Given the description of an element on the screen output the (x, y) to click on. 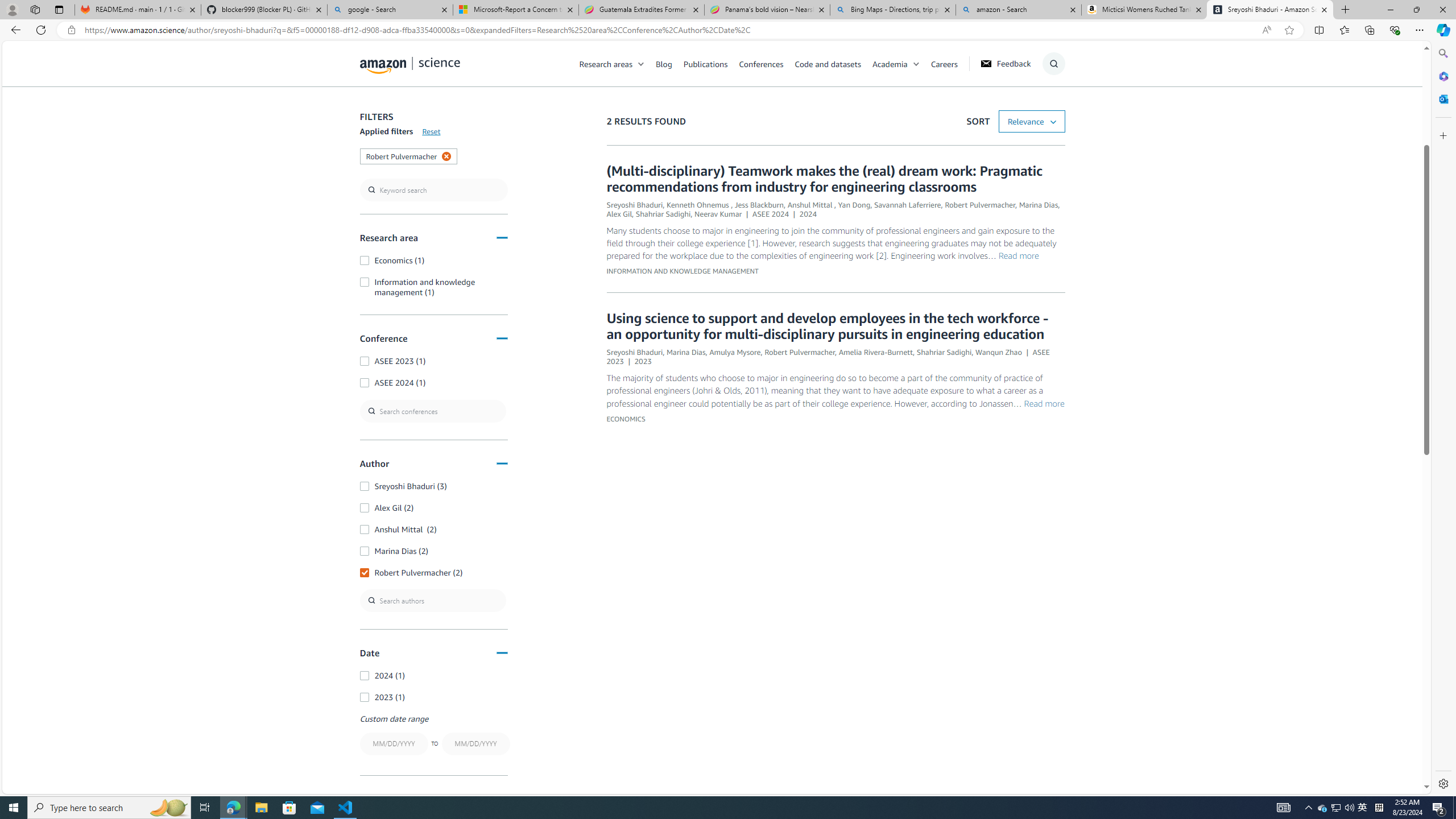
Robert Pulvermacher (799, 352)
Code and datasets (833, 63)
Publications (705, 63)
Amelia Rivera-Burnett (875, 352)
search (433, 190)
Code and datasets (827, 63)
Conferences (766, 63)
Academia (901, 63)
Careers (949, 63)
